Given the description of an element on the screen output the (x, y) to click on. 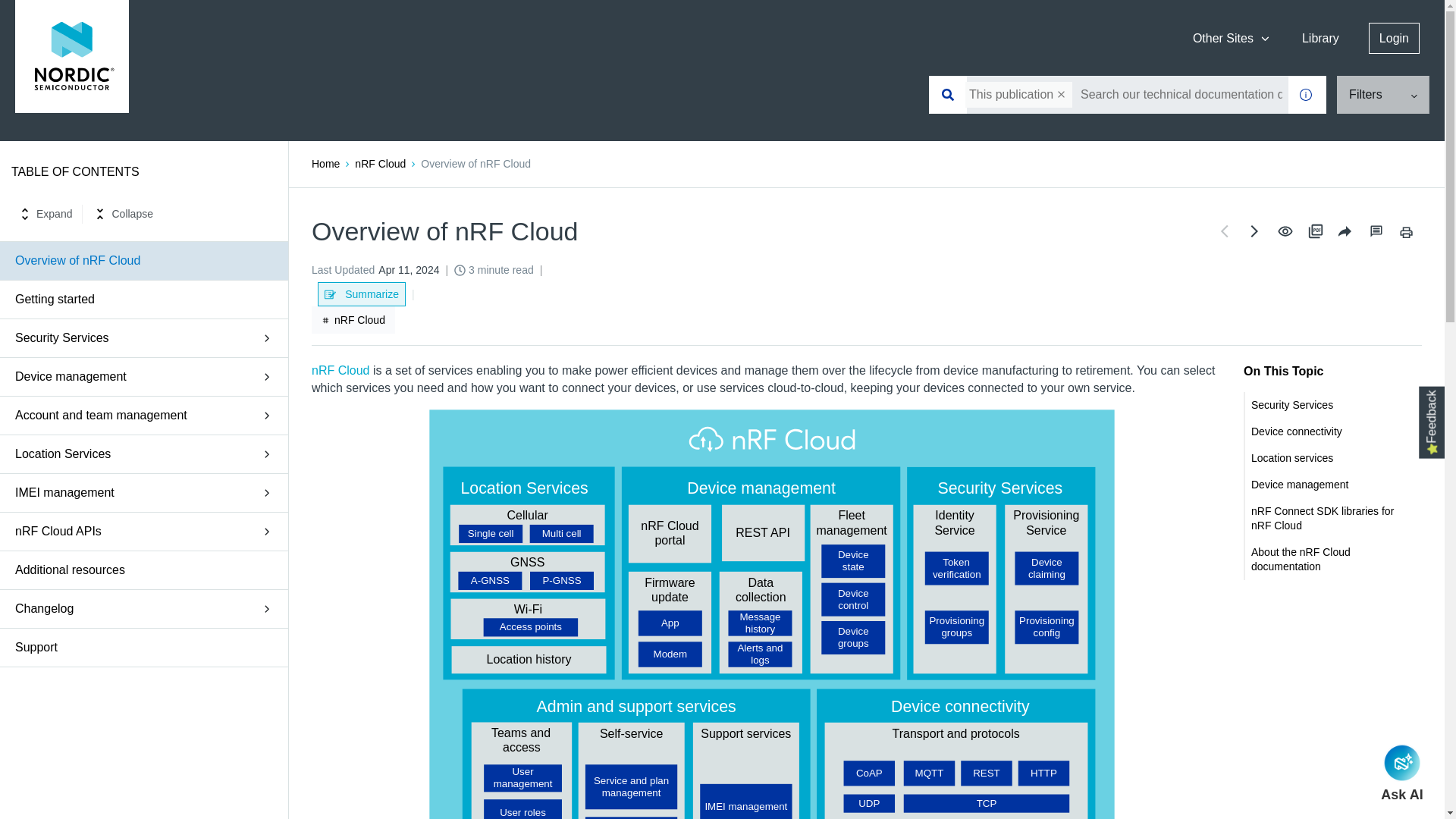
Other Sites (1231, 37)
Login (1393, 38)
Filters (1382, 94)
Library (1320, 37)
